Given the description of an element on the screen output the (x, y) to click on. 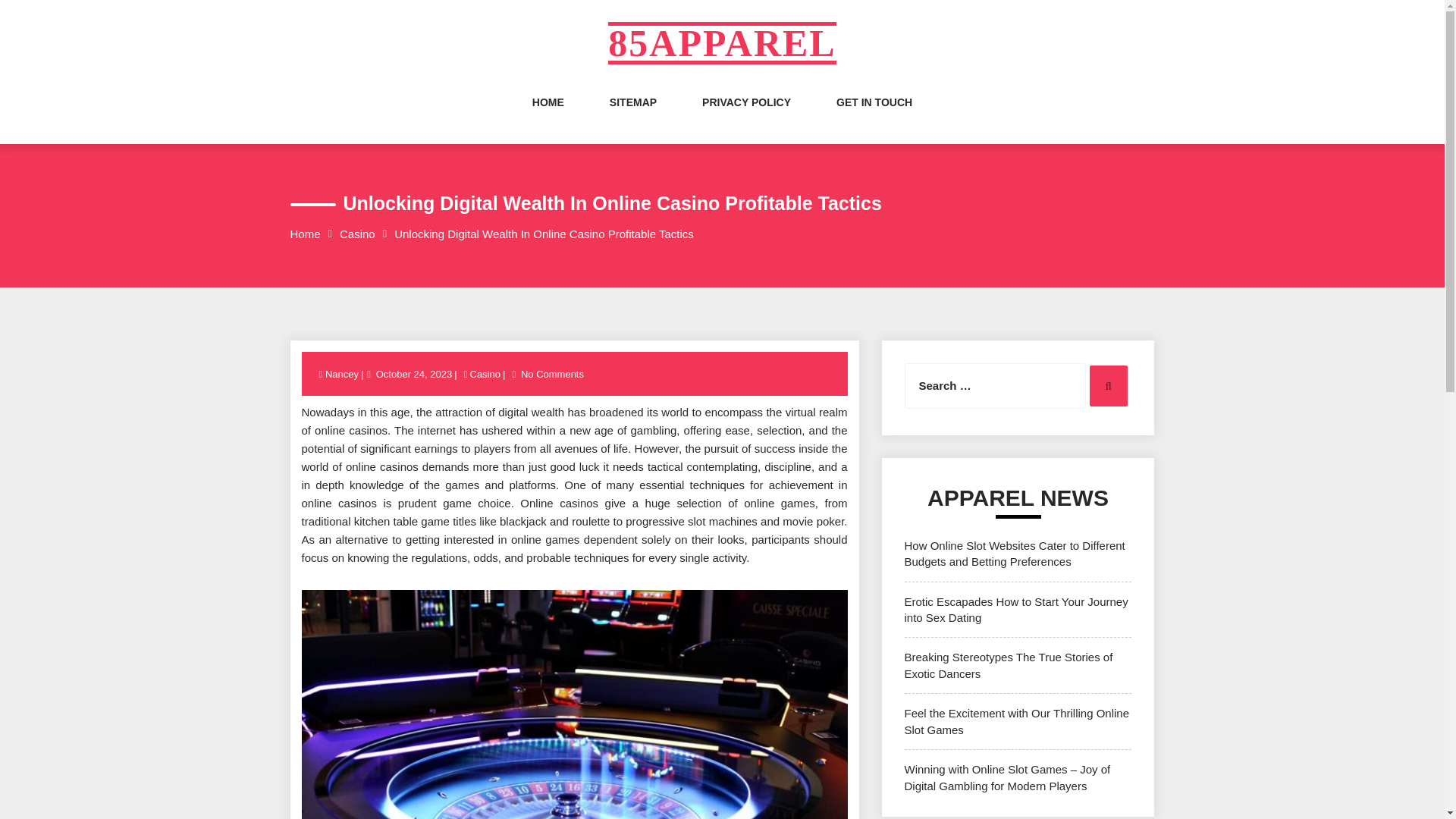
October 24, 2023 (414, 374)
Casino (357, 233)
Feel the Excitement with Our Thrilling Online Slot Games (1016, 720)
SITEMAP (633, 117)
Breaking Stereotypes The True Stories of Exotic Dancers (1008, 664)
GET IN TOUCH (873, 117)
Search (1107, 385)
Nancey (342, 374)
85APPAREL (721, 43)
Casino (484, 374)
PRIVACY POLICY (745, 117)
Erotic Escapades How to Start Your Journey into Sex Dating (1015, 609)
No Comments (552, 374)
Home (304, 233)
